Given the description of an element on the screen output the (x, y) to click on. 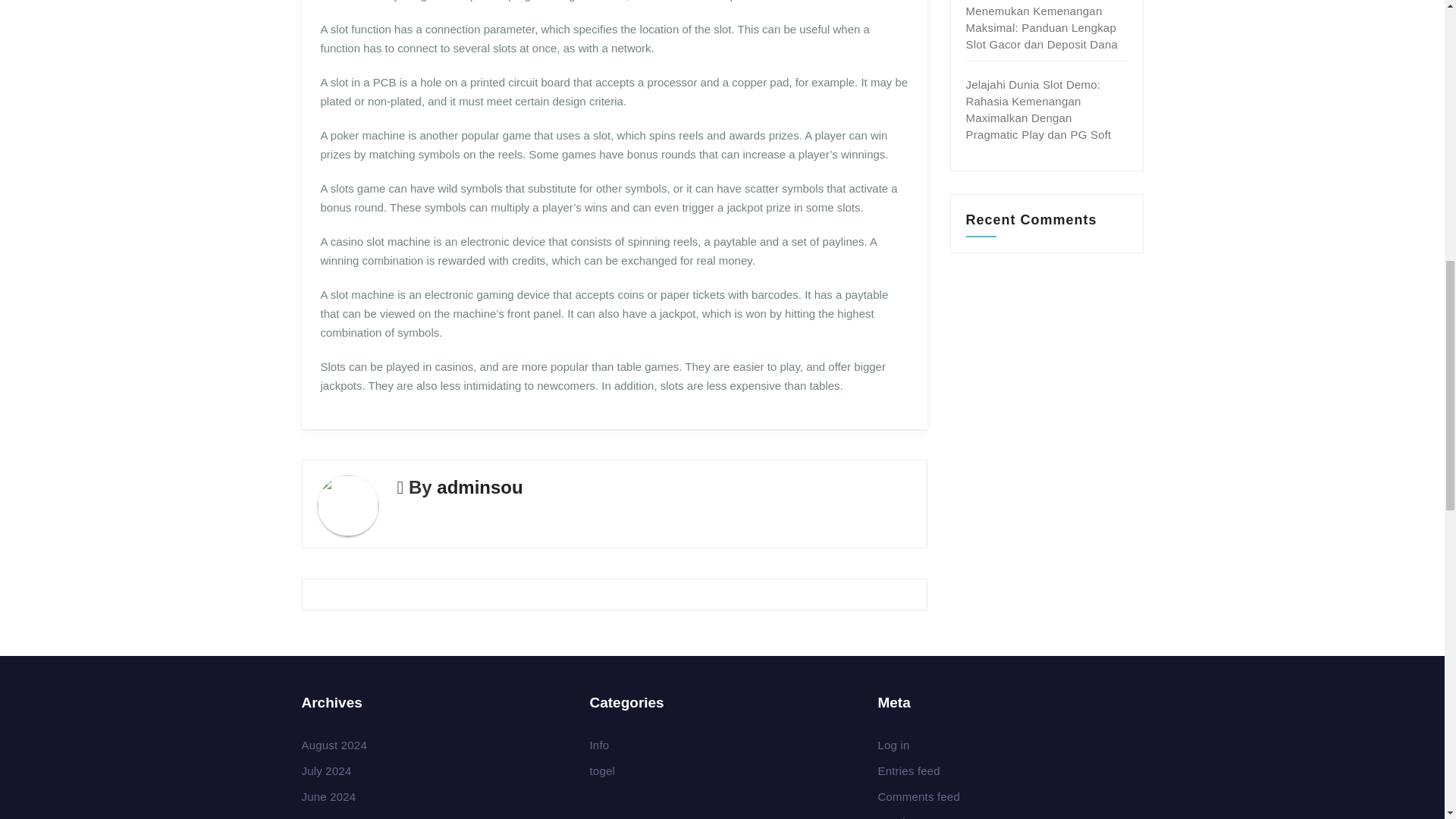
August 2024 (333, 744)
adminsou (479, 486)
June 2024 (328, 796)
July 2024 (326, 770)
May 2024 (326, 817)
